Given the description of an element on the screen output the (x, y) to click on. 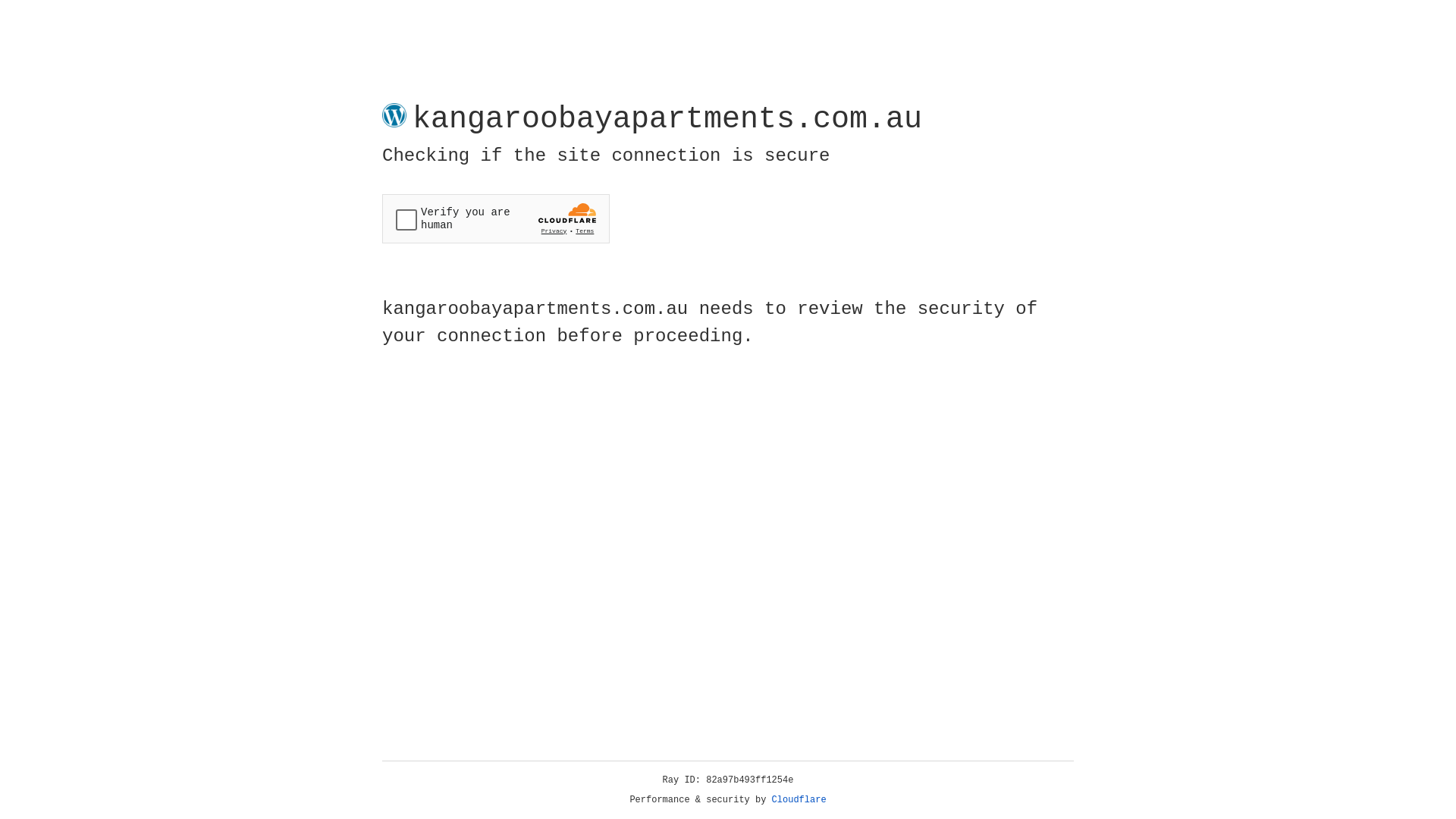
Widget containing a Cloudflare security challenge Element type: hover (495, 218)
Cloudflare Element type: text (798, 799)
